Given the description of an element on the screen output the (x, y) to click on. 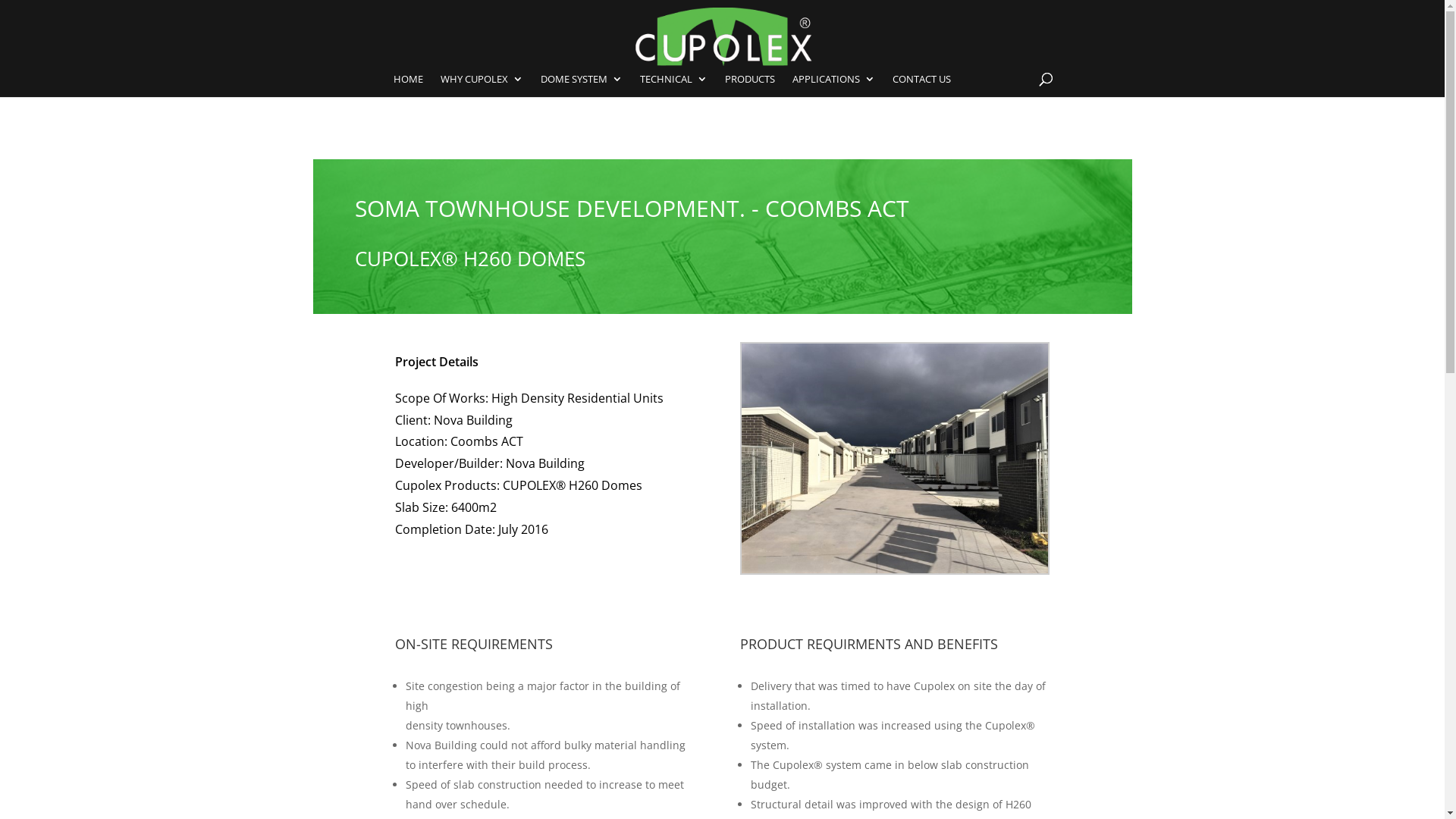
HOME Element type: text (408, 85)
PRODUCTS Element type: text (749, 85)
CONTACT US Element type: text (921, 85)
WHY CUPOLEX Element type: text (481, 85)
APPLICATIONS Element type: text (833, 85)
DOME SYSTEM Element type: text (581, 85)
TECHNICAL Element type: text (673, 85)
